Given the description of an element on the screen output the (x, y) to click on. 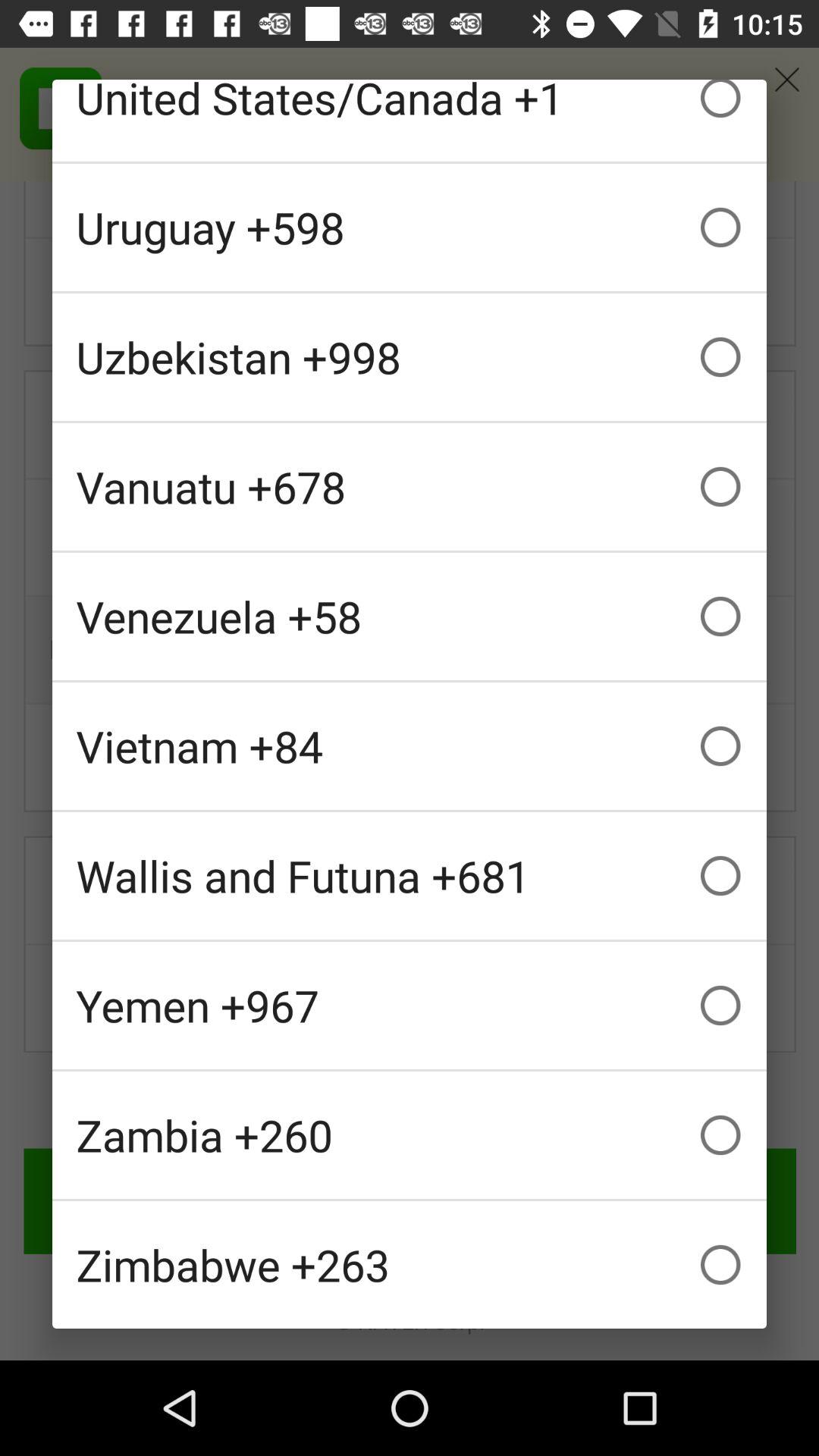
scroll until venezuela +58 (409, 616)
